Given the description of an element on the screen output the (x, y) to click on. 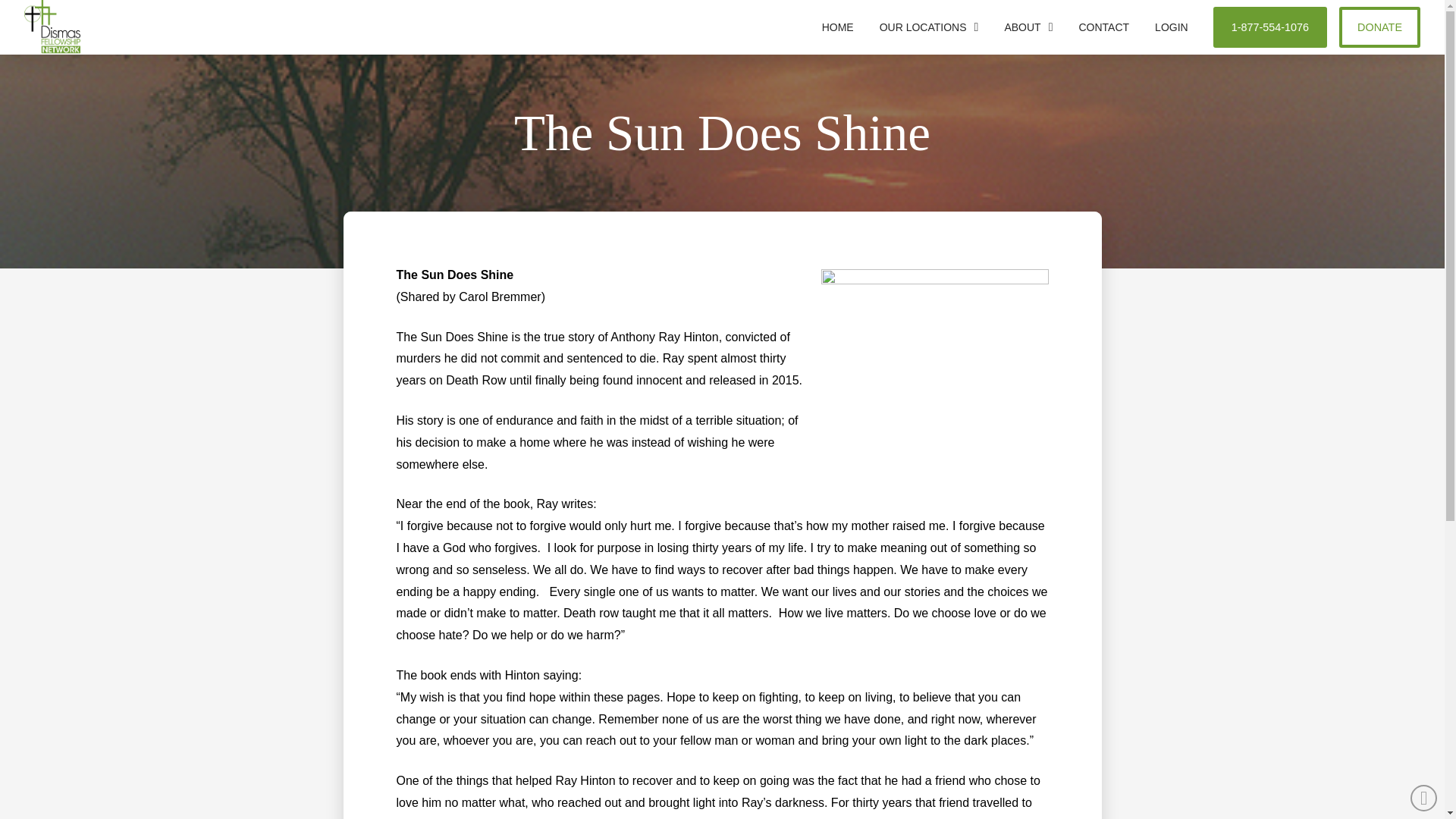
DONATE (1380, 26)
Back to Top (1423, 797)
1-877-554-1076 (1269, 26)
CONTACT (1103, 27)
OUR LOCATIONS (928, 27)
HOME (837, 27)
ABOUT (1028, 27)
LOGIN (1171, 27)
